Given the description of an element on the screen output the (x, y) to click on. 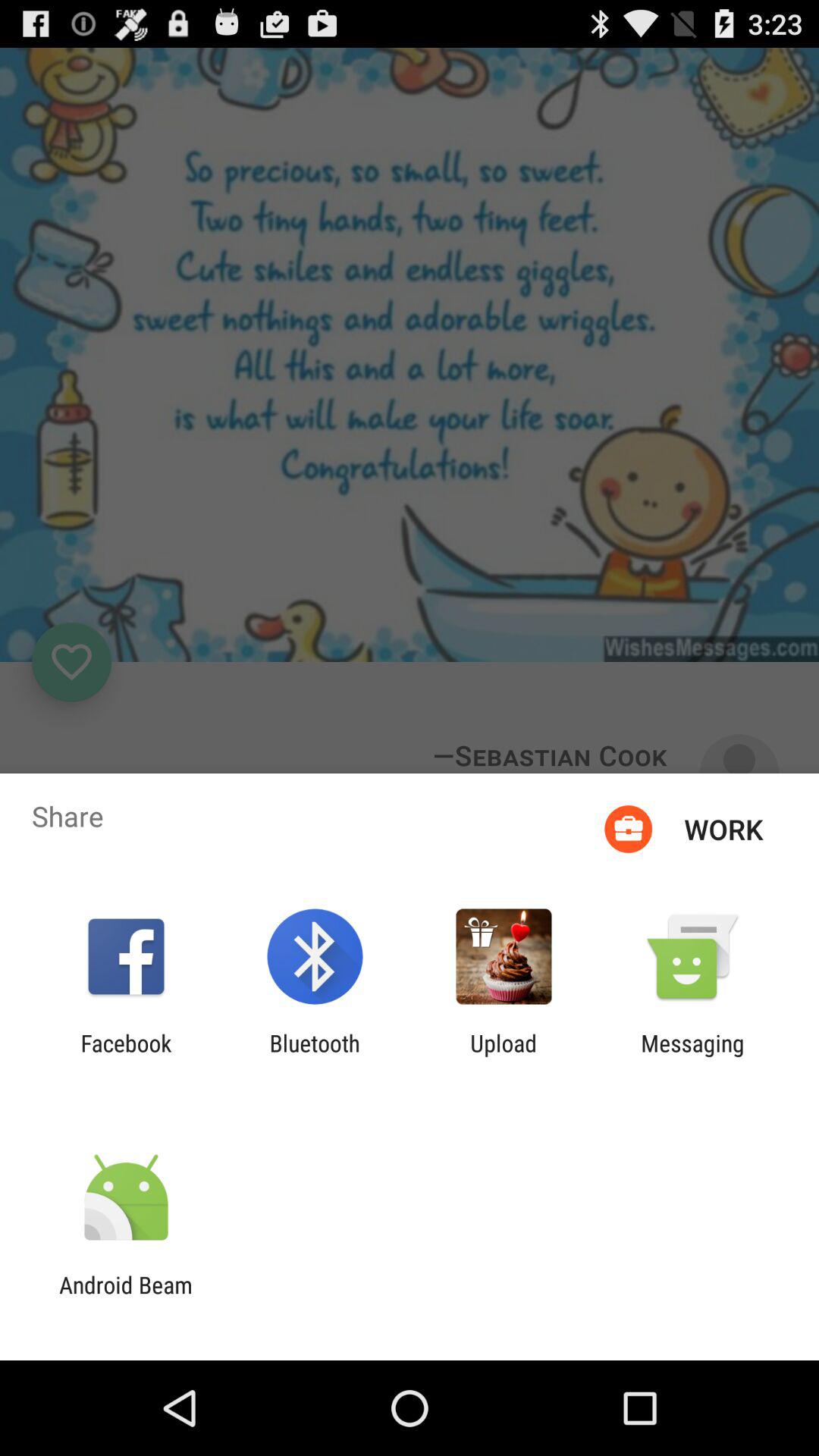
flip until the messaging icon (692, 1056)
